Given the description of an element on the screen output the (x, y) to click on. 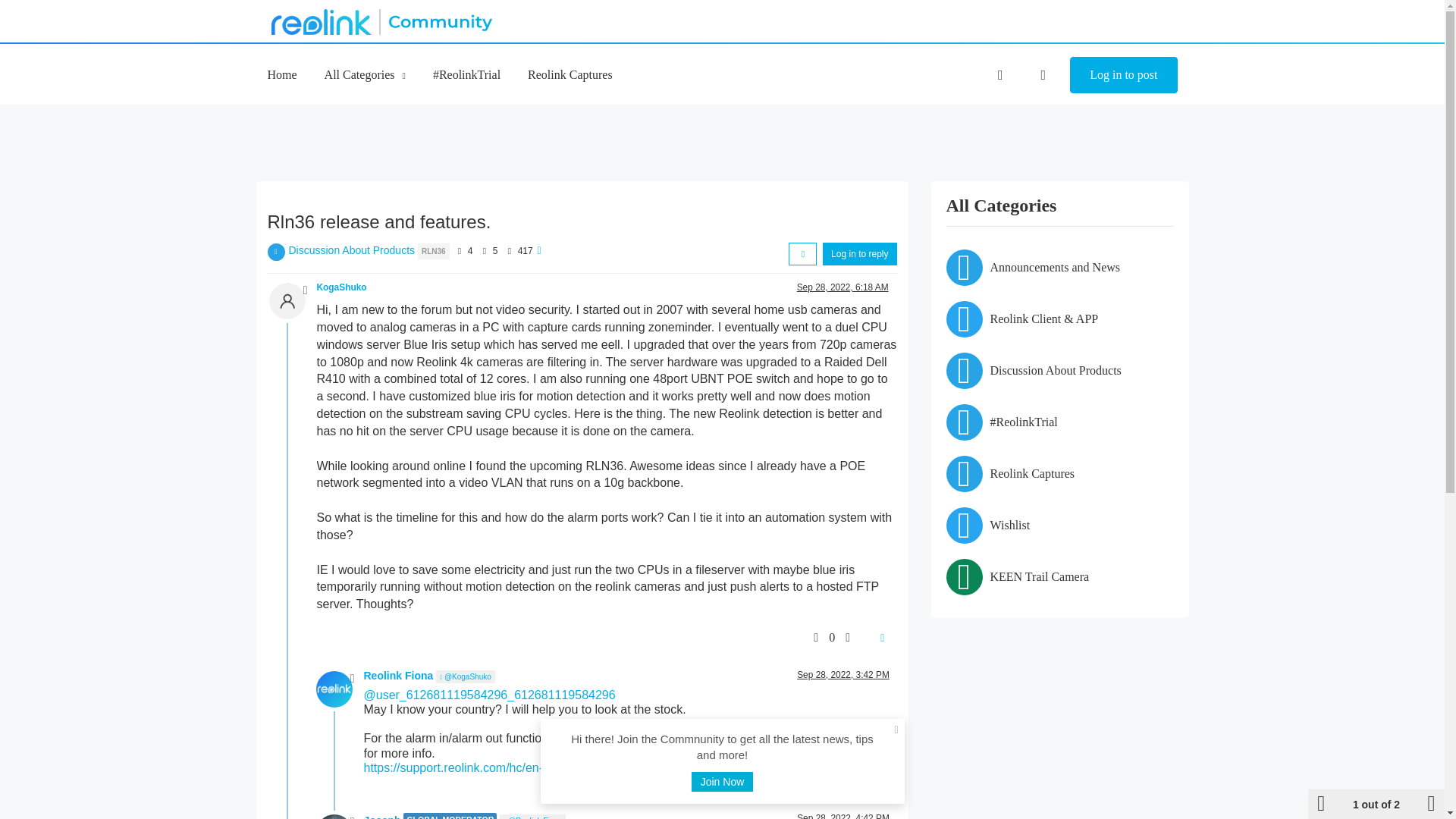
Log in to post (1123, 75)
Log in to reply (859, 253)
417 (525, 250)
All Categories (365, 74)
Reolink Captures (569, 74)
Home (281, 74)
Views (509, 250)
Sep 28, 2022, 6:18 AM (842, 286)
KogaShuko (341, 286)
Posts (484, 250)
Sep 28, 2022, 6:18 AM (842, 286)
RLN36 (433, 250)
Discussion About Products (351, 250)
Posters (458, 250)
